Given the description of an element on the screen output the (x, y) to click on. 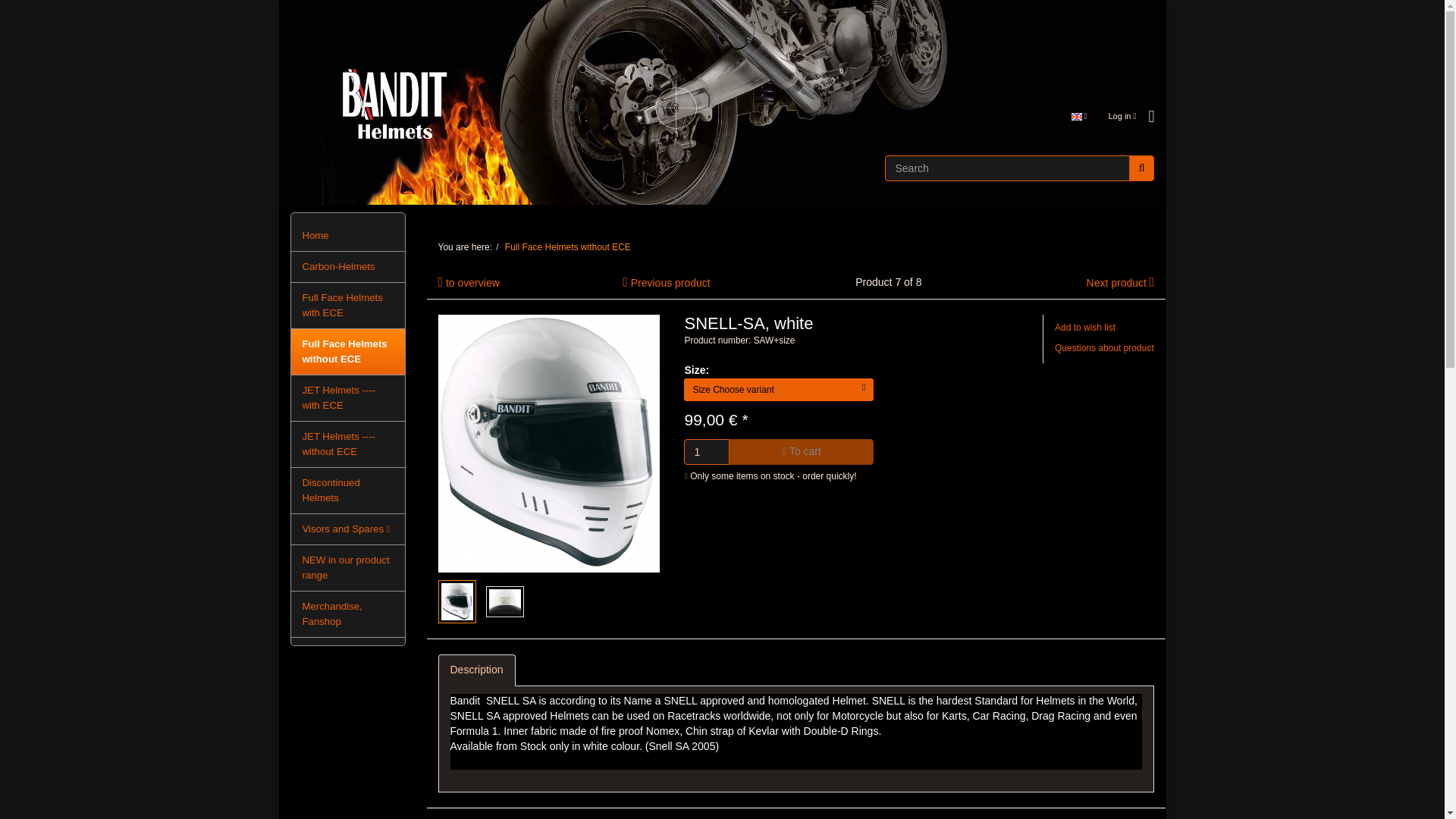
Description (476, 670)
Bandit Helmets (722, 101)
Discontinued Helmets (347, 490)
Next product (1116, 282)
Add to wish list (1084, 327)
Merchandise, Fanshop (347, 614)
JET Helmets ---- with ECE (347, 397)
Previous product (670, 282)
Full Face Helmets with ECE (347, 305)
JET Helmets ---- without ECE (347, 443)
NEW in our product range (347, 567)
Search (1141, 167)
Home (347, 235)
Full Face Helmets  without ECE (567, 246)
To cart (801, 451)
